Given the description of an element on the screen output the (x, y) to click on. 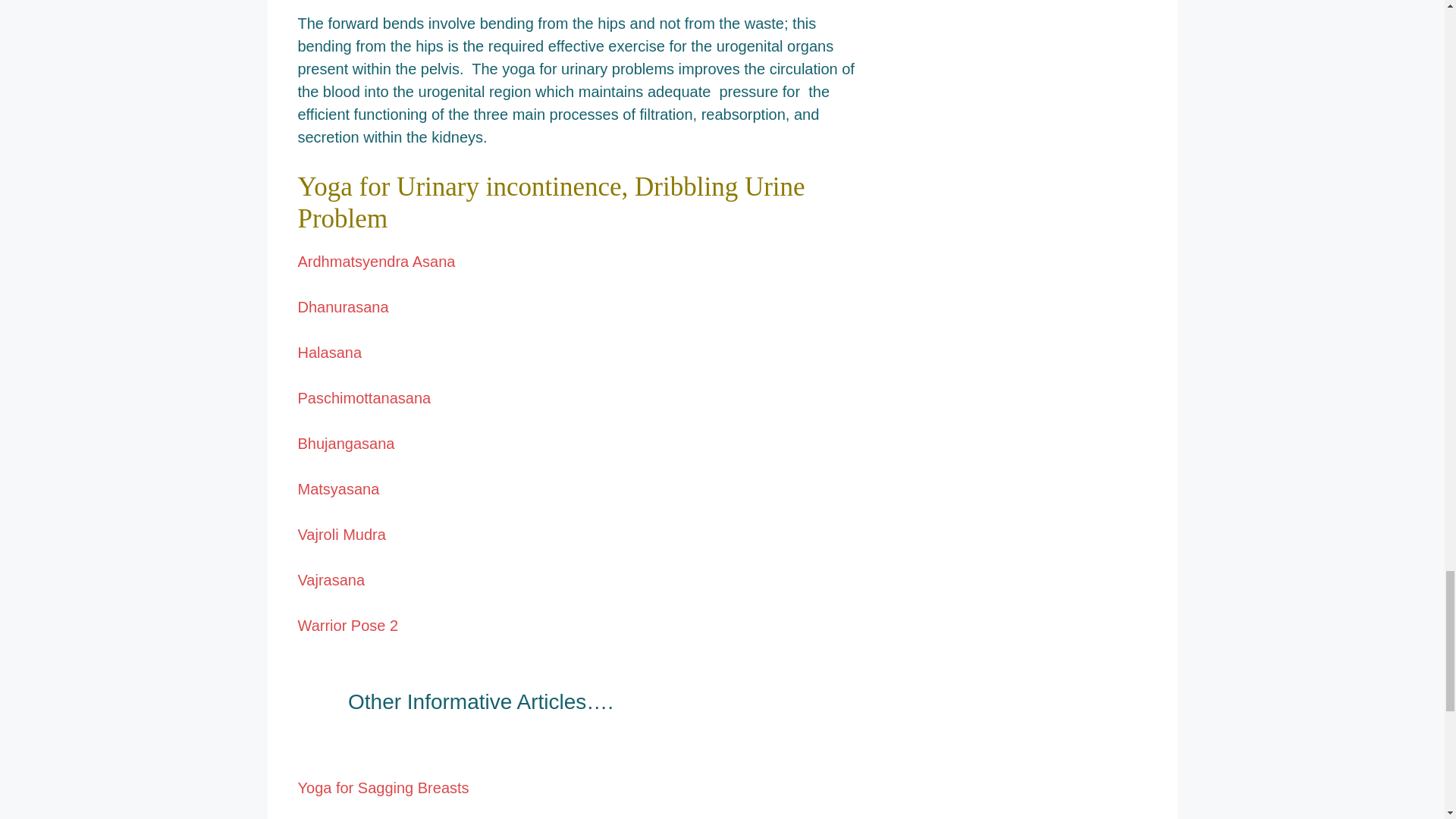
Bhujangasana (345, 443)
Dhanurasana (342, 306)
Halasana  (331, 352)
Vajroli Mudra (341, 534)
Yoga for Sagging Breasts (382, 787)
Ardhmatsyendra Asana (375, 261)
Paschimottanasana (363, 397)
Vajrasana (331, 579)
Warrior Pose 2 (347, 625)
Matsyasana (337, 488)
